Given the description of an element on the screen output the (x, y) to click on. 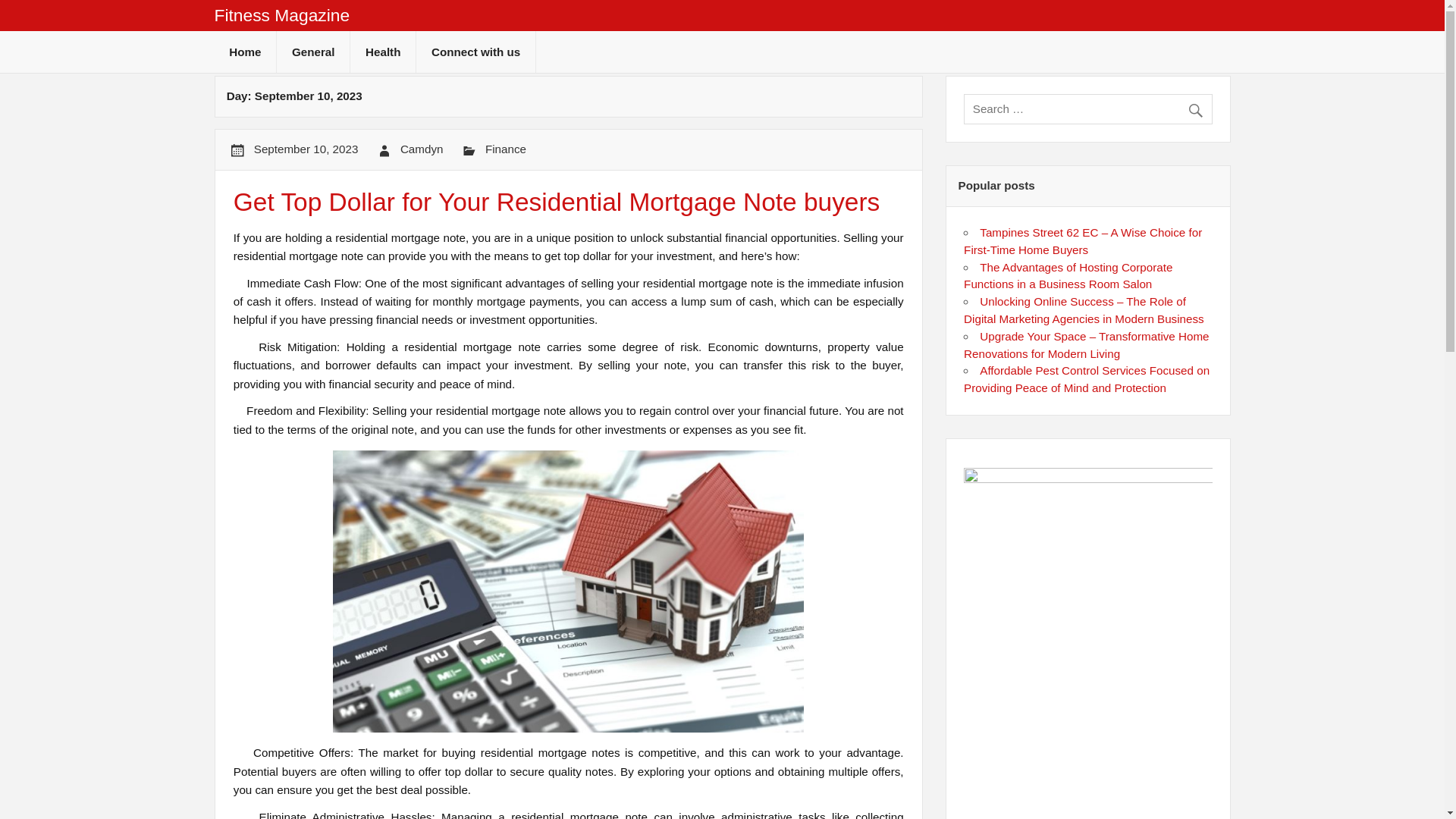
Fitness Magazine (281, 15)
Connect with us (475, 51)
Camdyn (422, 148)
Fitness Magazine (281, 15)
Finance (504, 148)
7:14 am (305, 148)
General (312, 51)
September 10, 2023 (305, 148)
